Given the description of an element on the screen output the (x, y) to click on. 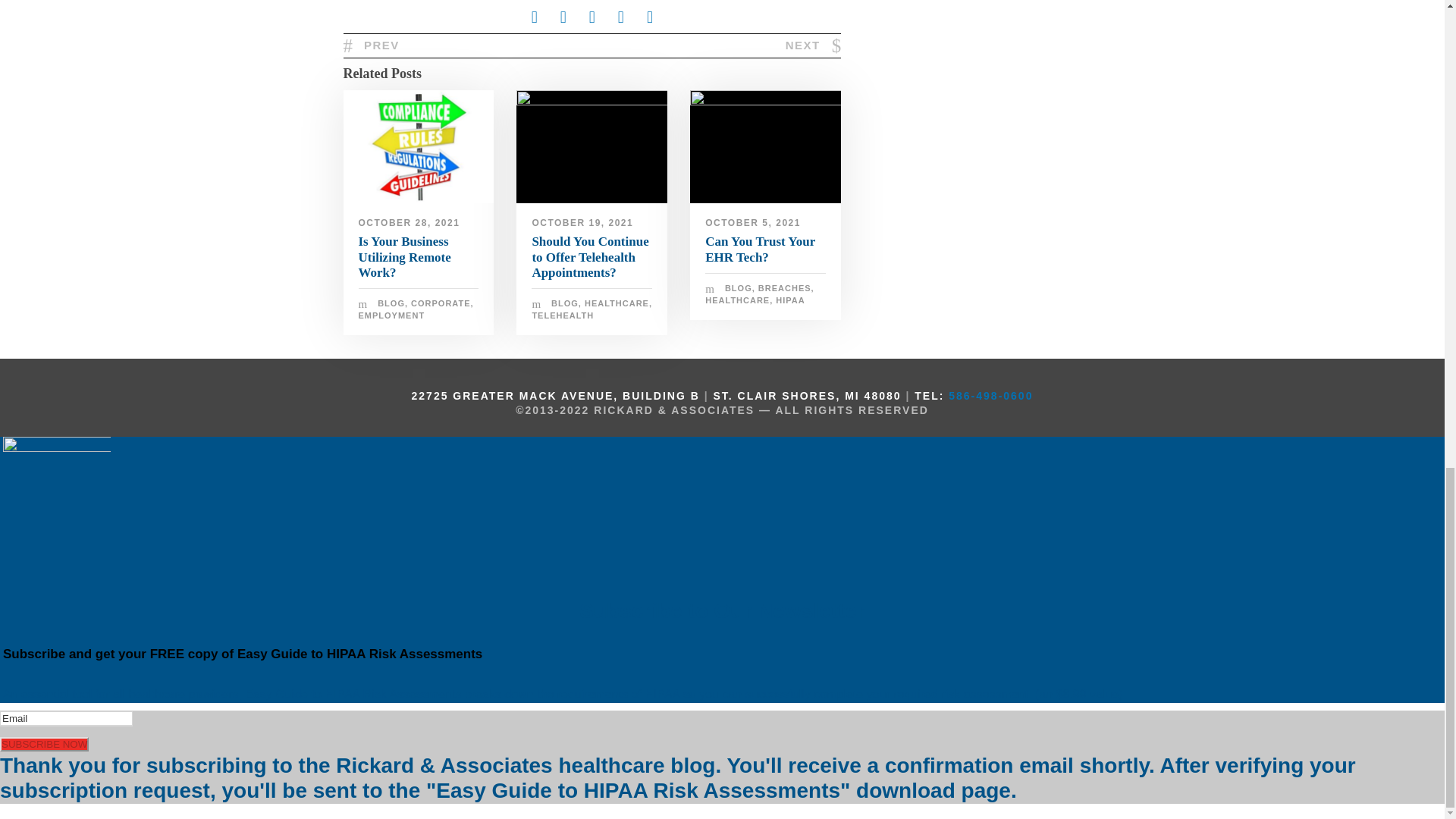
electronic health record system (765, 146)
telemedicine (591, 146)
compliance-rules-regulations (417, 146)
